Given the description of an element on the screen output the (x, y) to click on. 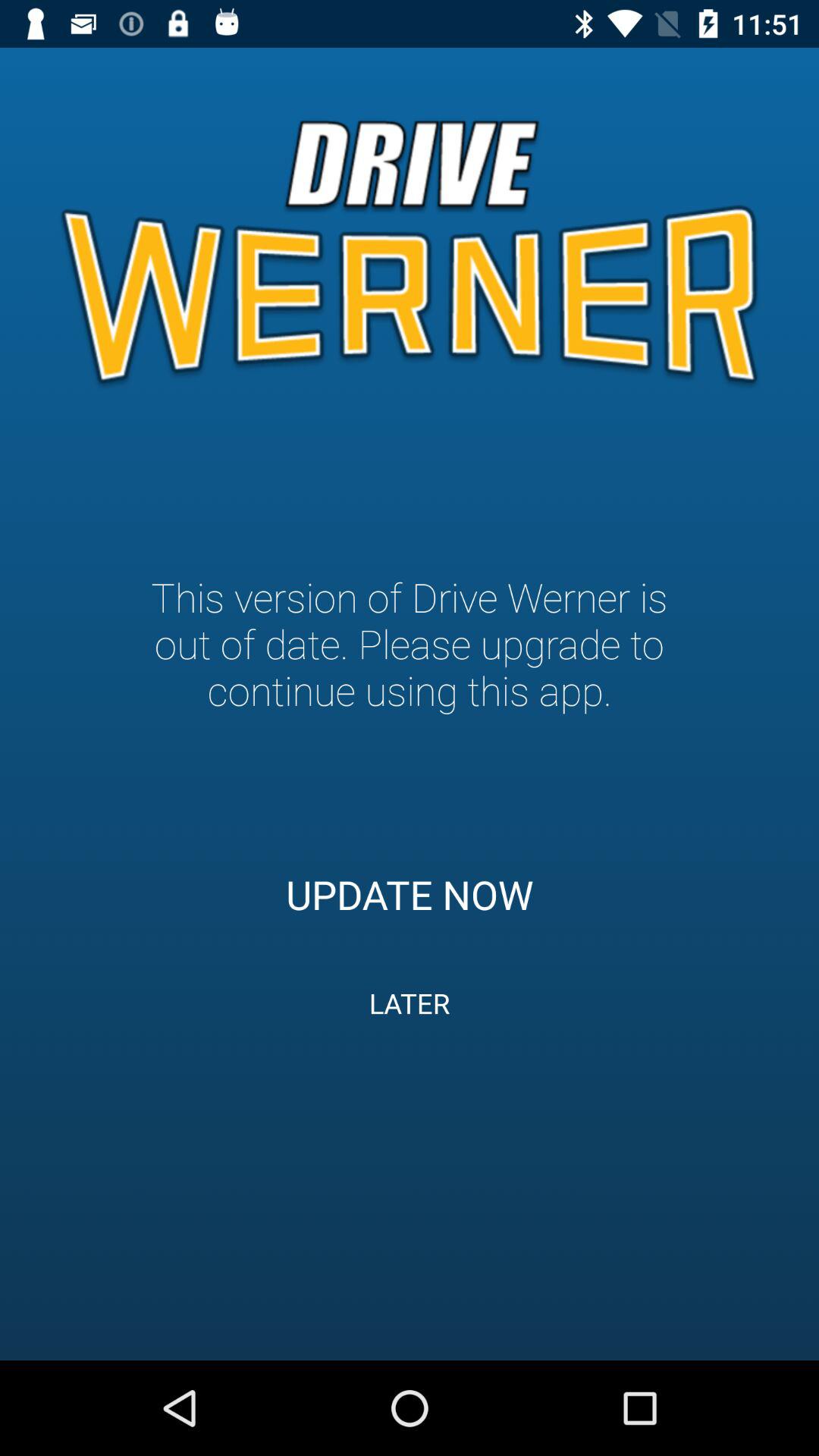
flip to later item (409, 1002)
